Given the description of an element on the screen output the (x, y) to click on. 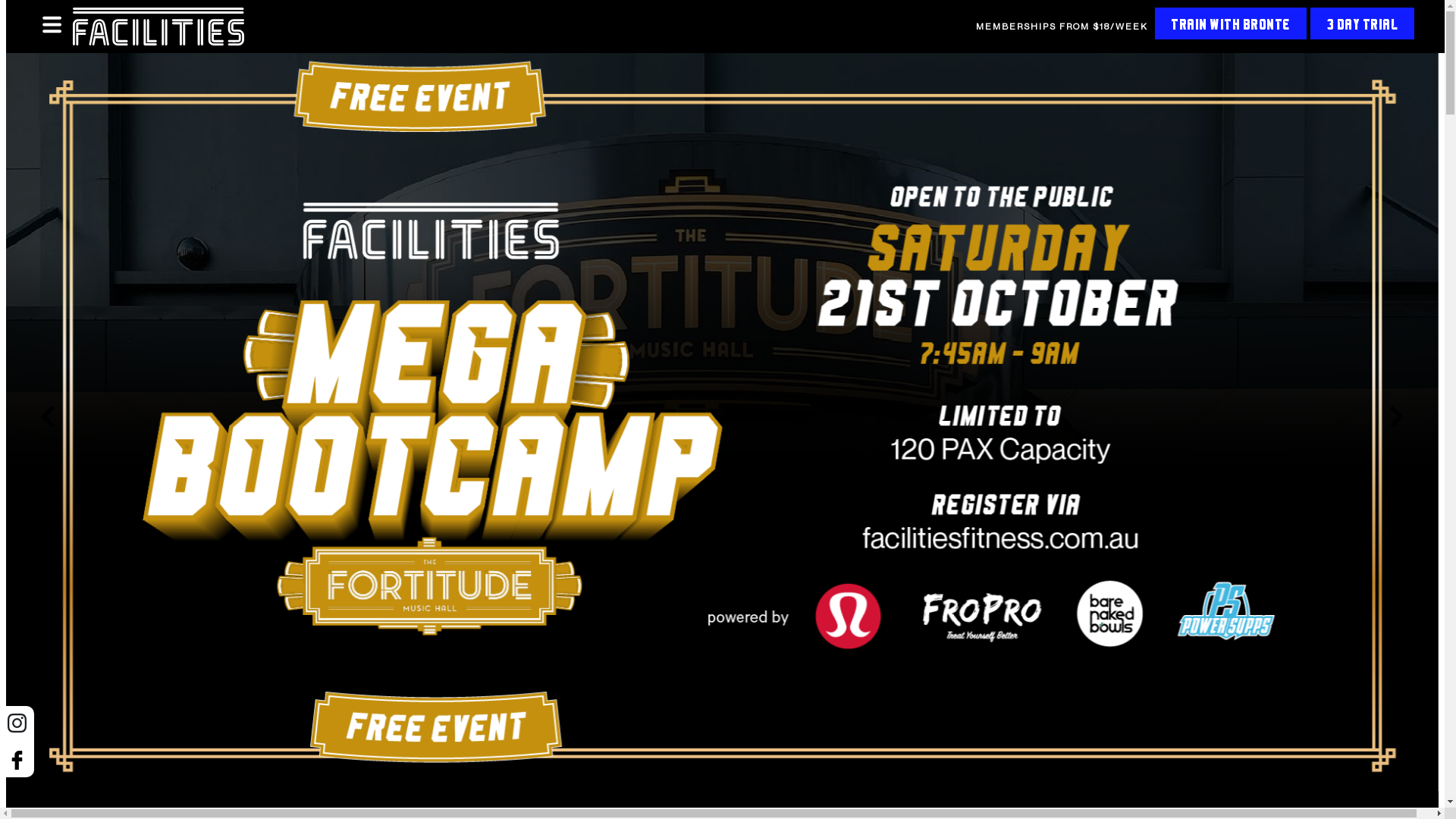
3 Day Trial Element type: text (1362, 23)
Train with Bronte Element type: text (1230, 23)
